Given the description of an element on the screen output the (x, y) to click on. 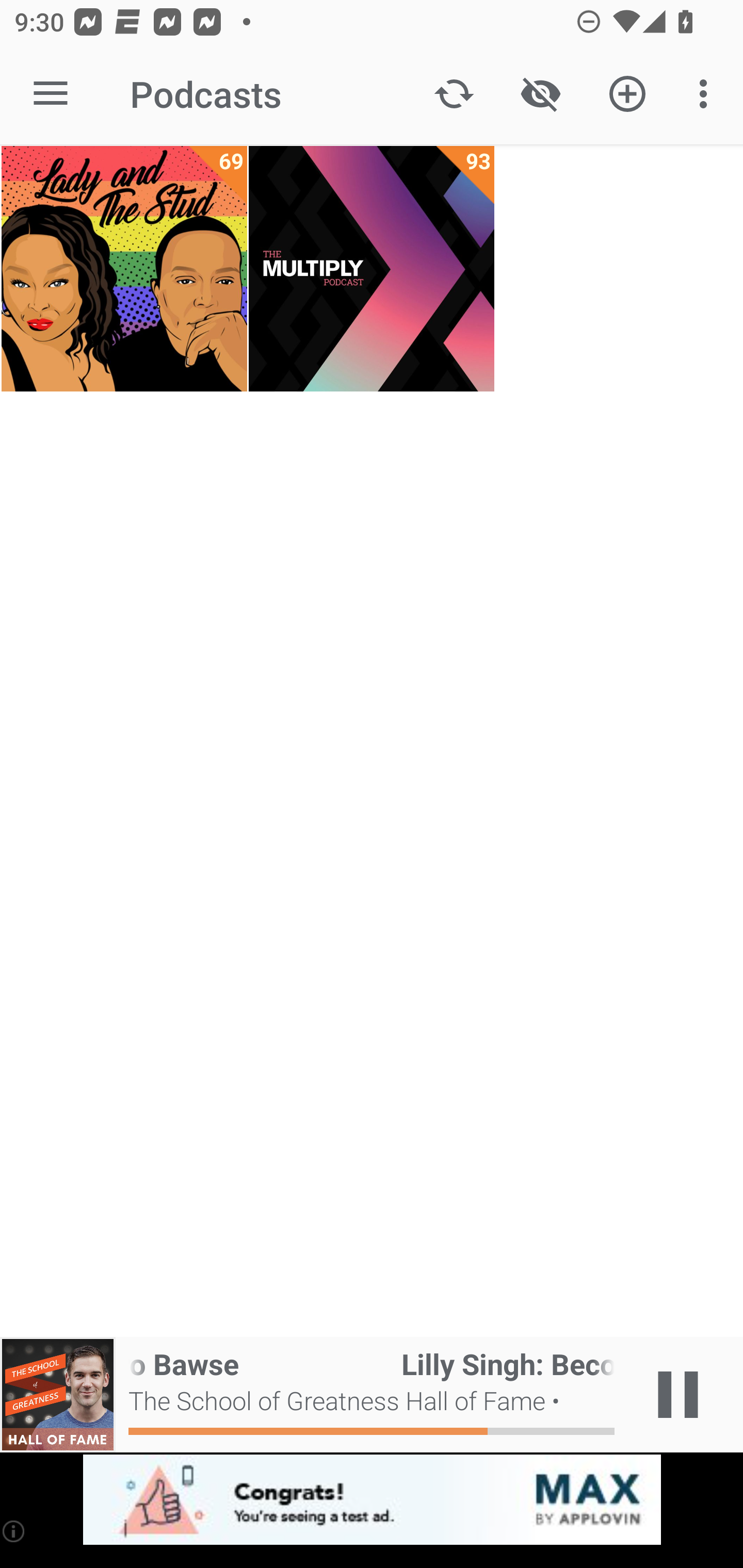
Open navigation sidebar (50, 93)
Update (453, 93)
Show / Hide played content (540, 93)
Add new Podcast (626, 93)
More options (706, 93)
Lady and The Stud 69 (124, 268)
The Multiply Podcast 93 (371, 268)
Play / Pause (677, 1394)
app-monetization (371, 1500)
(i) (14, 1531)
